Given the description of an element on the screen output the (x, y) to click on. 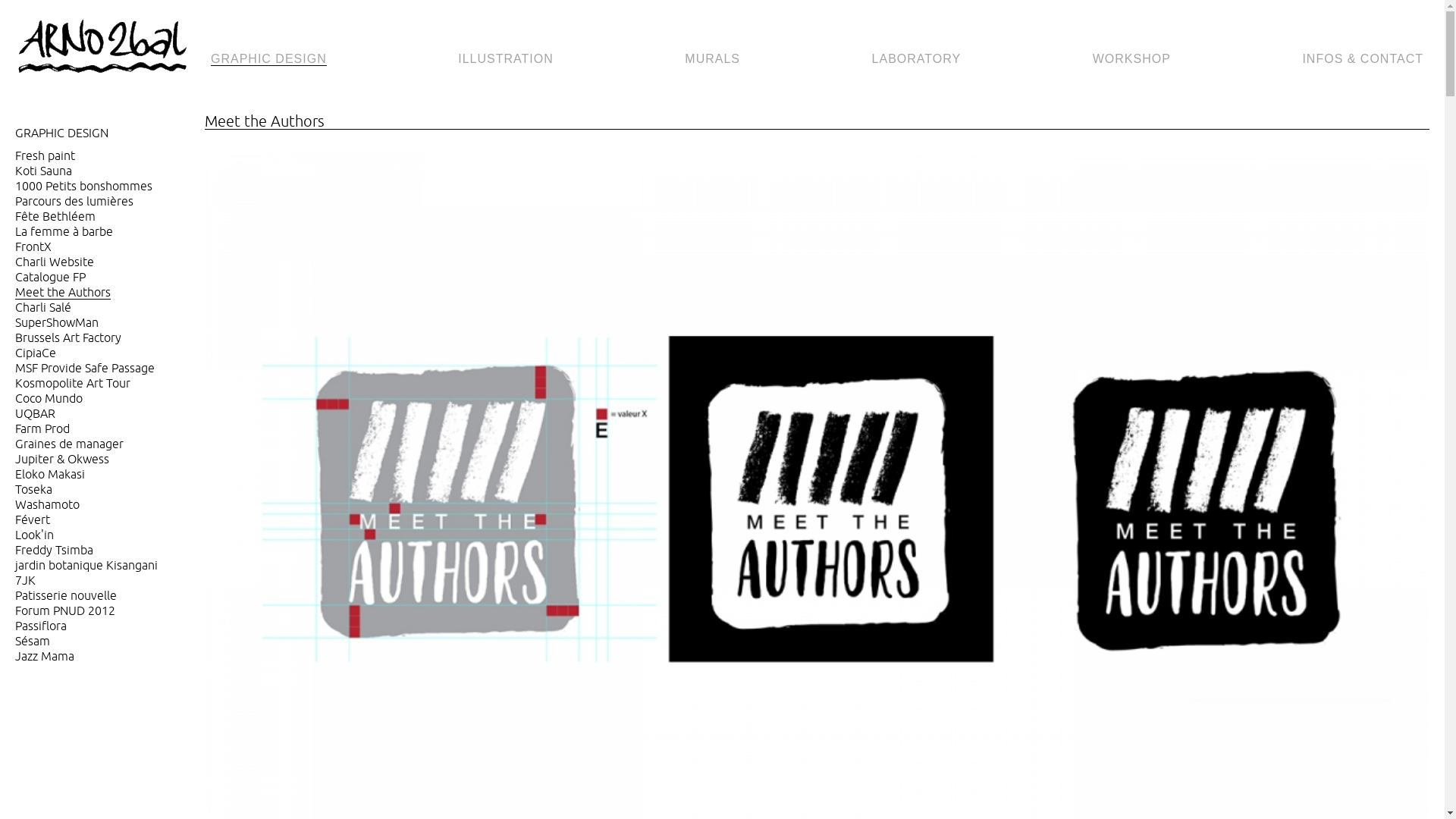
FrontX Element type: text (33, 246)
LABORATORY Element type: text (916, 59)
Look'in Element type: text (34, 534)
Meet the Authors Element type: text (62, 292)
Forum PNUD 2012 Element type: text (65, 610)
Freddy Tsimba Element type: text (54, 549)
Brussels Art Factory Element type: text (68, 337)
Skip to main content Element type: text (70, 15)
7JK Element type: text (25, 580)
WORKSHOP Element type: text (1131, 59)
MSF Provide Safe Passage Element type: text (84, 367)
MURALS Element type: text (712, 59)
Toseka Element type: text (33, 489)
Farm Prod Element type: text (42, 428)
Graines de manager Element type: text (69, 443)
Patisserie nouvelle Element type: text (65, 595)
jardin botanique Kisangani Element type: text (86, 565)
Kosmopolite Art Tour Element type: text (72, 383)
ILLUSTRATION Element type: text (505, 59)
GRAPHIC DESIGN Element type: text (268, 59)
UQBAR Element type: text (35, 413)
Charli Website Element type: text (54, 261)
Catalogue FP Element type: text (50, 276)
Jupiter & Okwess Element type: text (62, 458)
Passiflora Element type: text (40, 625)
Washamoto Element type: text (47, 504)
Home Element type: hover (109, 47)
INFOS & CONTACT Element type: text (1362, 59)
CipiaCe Element type: text (35, 352)
1000 Petits bonshommes Element type: text (83, 185)
Jazz Mama Element type: text (44, 656)
SuperShowMan Element type: text (56, 322)
Fresh paint Element type: text (45, 155)
Coco Mundo Element type: text (48, 398)
Koti Sauna Element type: text (43, 170)
Eloko Makasi Element type: text (49, 474)
